Given the description of an element on the screen output the (x, y) to click on. 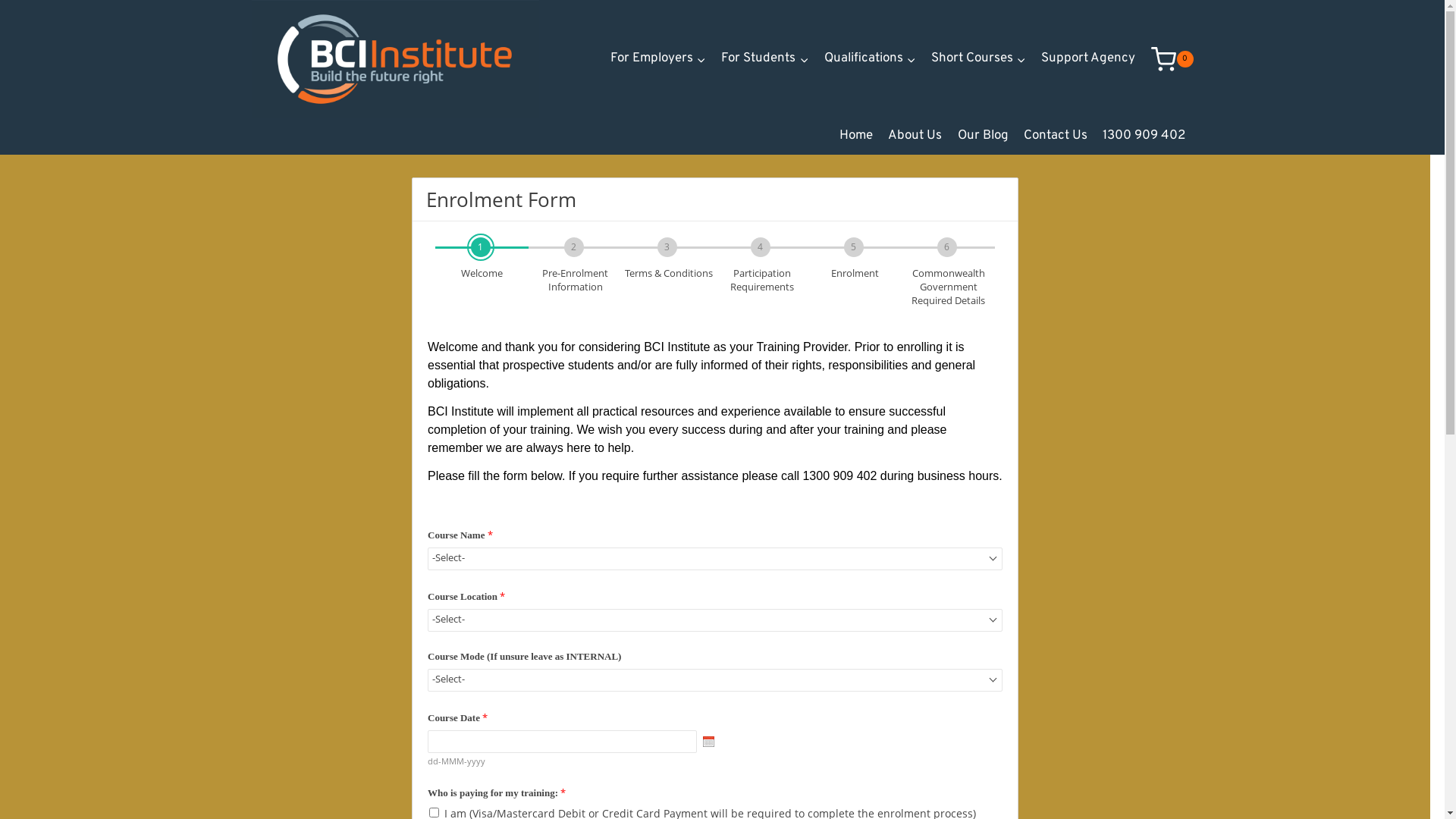
Short Courses Element type: text (978, 58)
Our Blog Element type: text (982, 136)
About Us Element type: text (914, 136)
Qualifications Element type: text (869, 58)
Home Element type: text (855, 136)
Contact Us Element type: text (1055, 136)
For Students Element type: text (764, 58)
0 Element type: text (1172, 59)
For Employers Element type: text (657, 58)
1300 909 402 Element type: text (1143, 136)
Support Agency Element type: text (1087, 58)
